Given the description of an element on the screen output the (x, y) to click on. 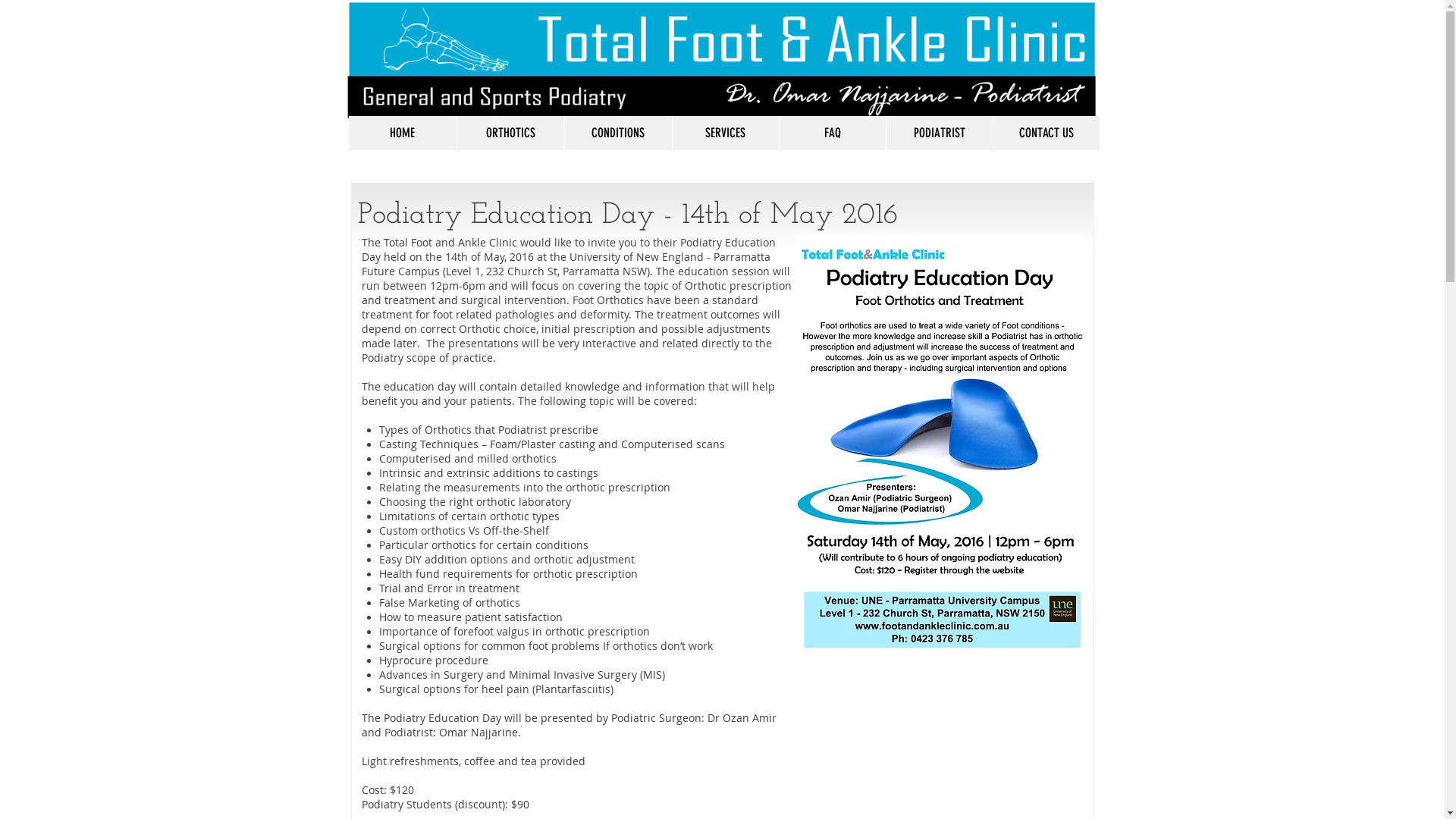
ORTHOTICS Element type: text (510, 133)
HOME Element type: text (402, 133)
CONTACT US Element type: text (1044, 133)
PODIATRIST Element type: text (938, 133)
CONDITIONS Element type: text (617, 133)
Course Pic.jpg Element type: hover (939, 444)
FAQ Element type: text (831, 133)
SERVICES Element type: text (724, 133)
